Given the description of an element on the screen output the (x, y) to click on. 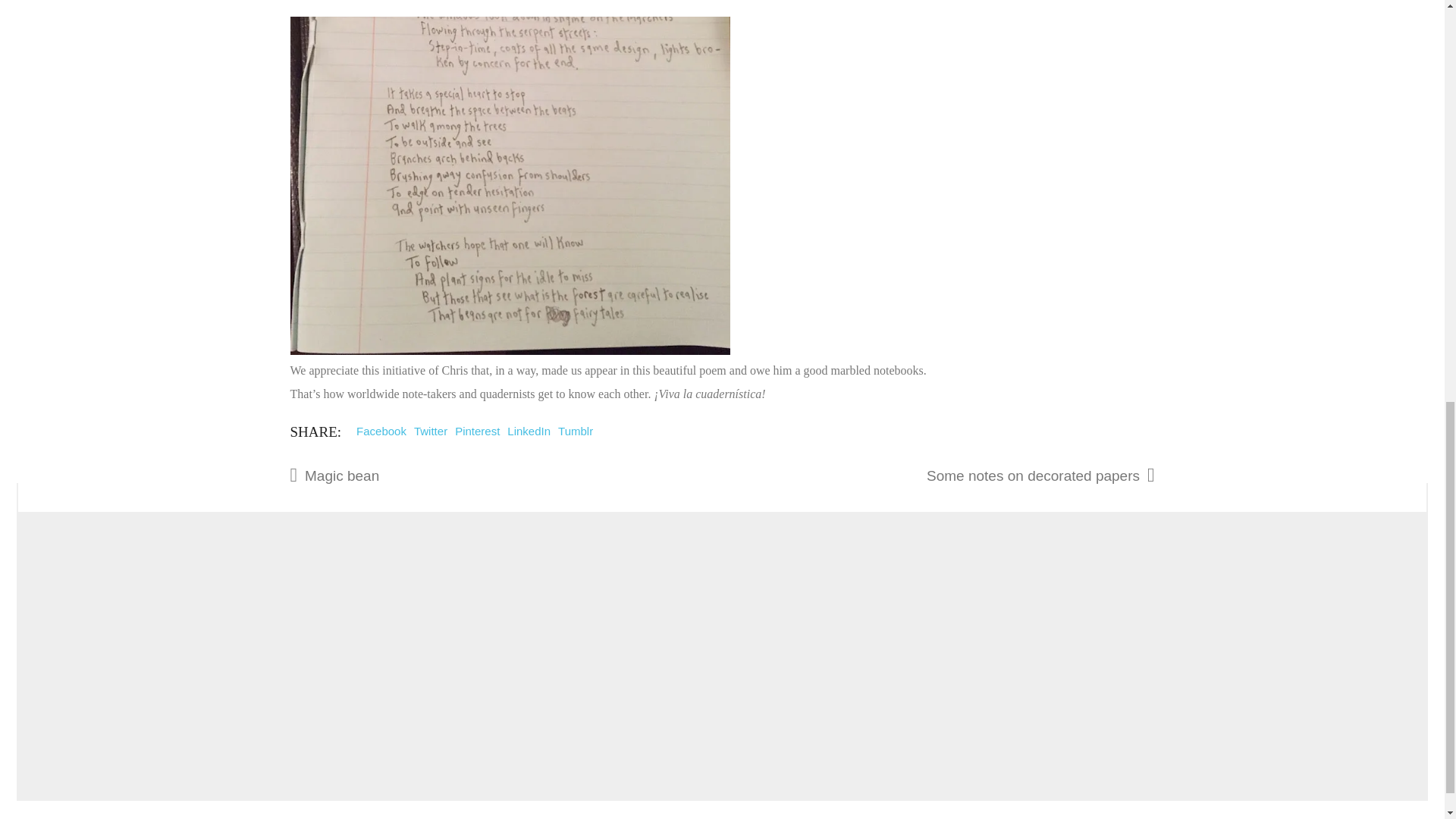
Magic bean (459, 474)
Facebook (381, 431)
Twitter (429, 431)
Pinterest (476, 431)
Some notes on decorated papers (914, 474)
LinkedIn (528, 431)
Tumblr (574, 431)
